Given the description of an element on the screen output the (x, y) to click on. 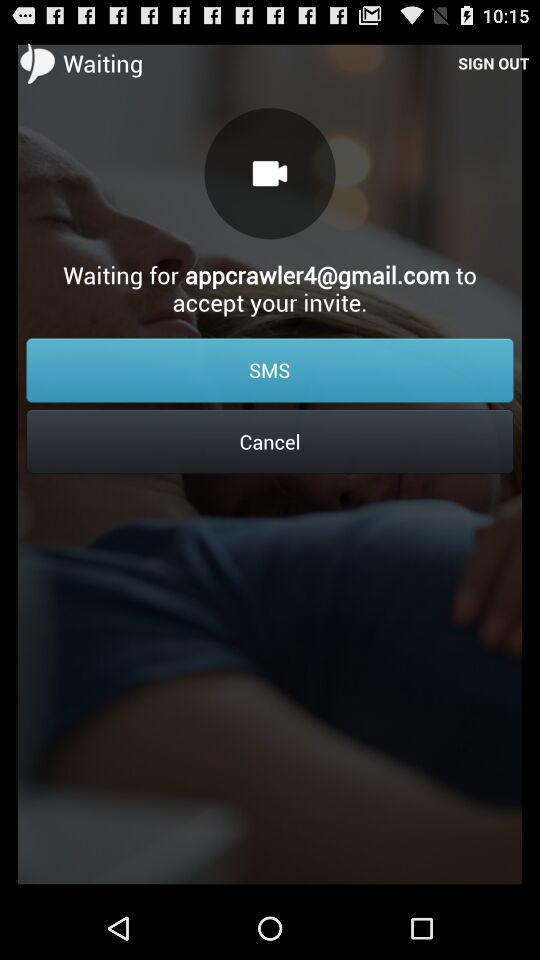
click sms icon (269, 369)
